Given the description of an element on the screen output the (x, y) to click on. 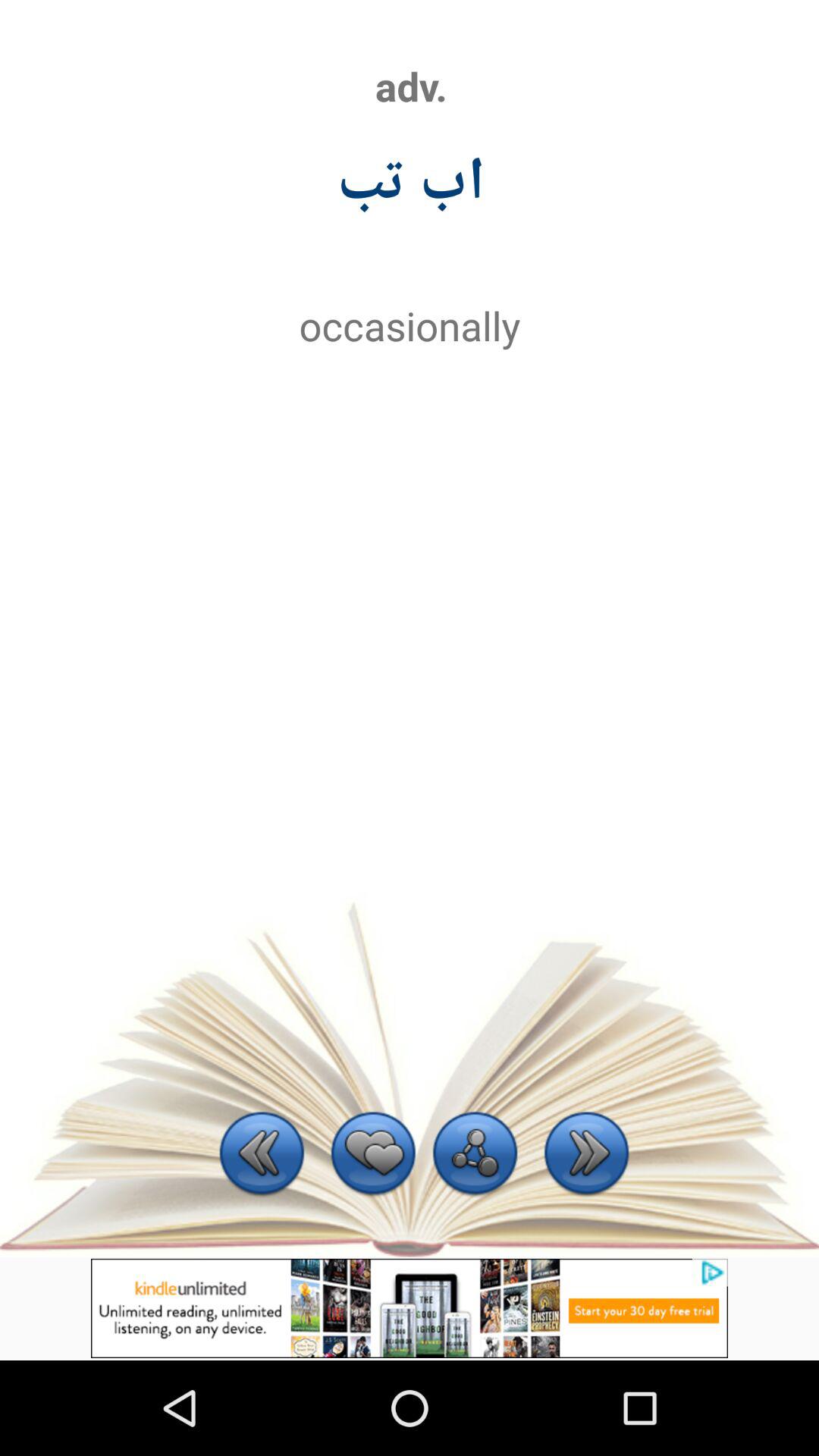
clica na setinha da esquerda (261, 1155)
